Given the description of an element on the screen output the (x, y) to click on. 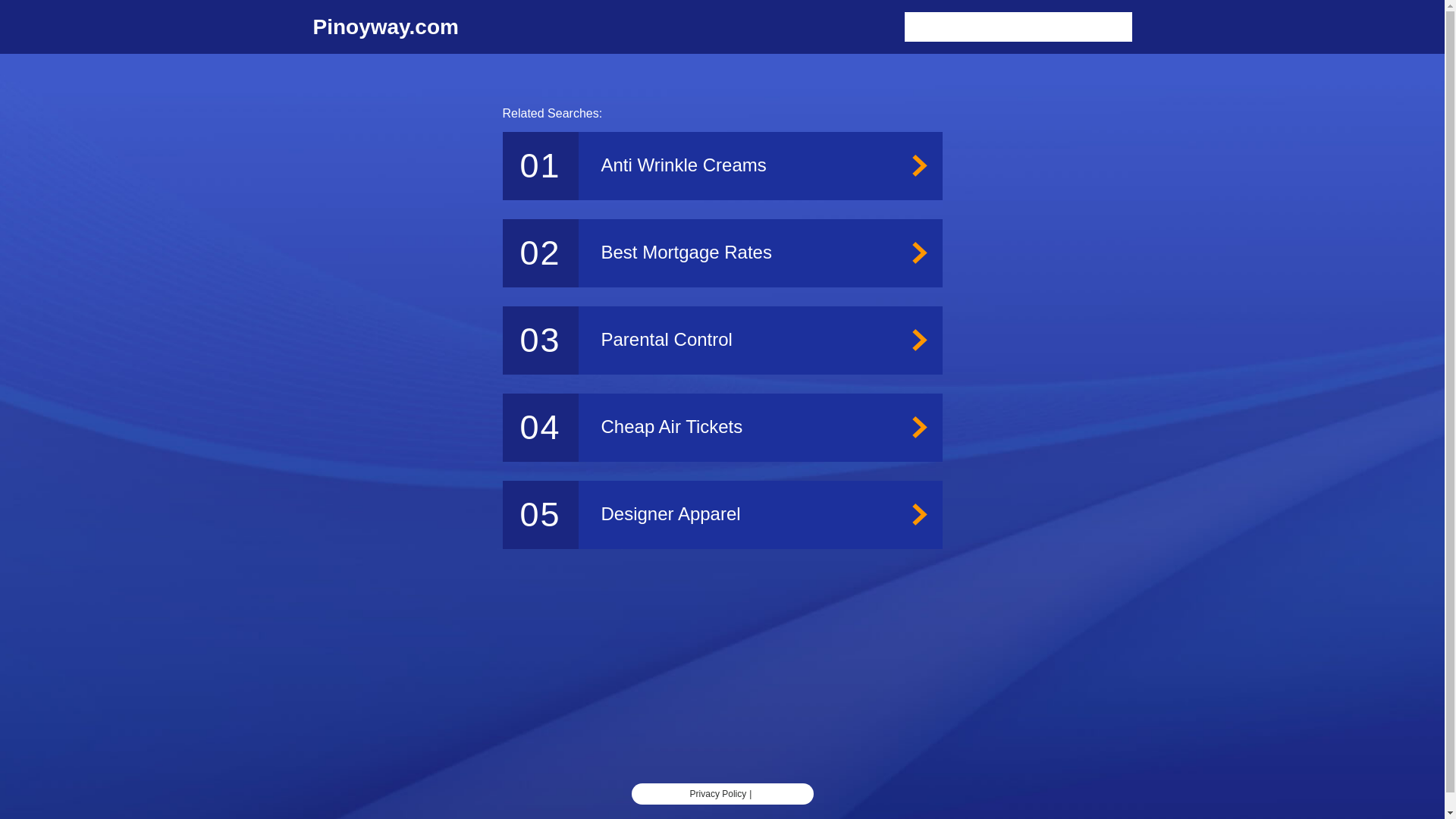
Parental Control (722, 340)
Pinoyway.com (385, 27)
Best Mortgage Rates (722, 253)
Parental Control (722, 340)
Best Mortgage Rates (722, 253)
Cheap Air Tickets (722, 427)
Designer Apparel (722, 514)
Privacy Policy (718, 793)
Anti Wrinkle Creams (722, 165)
Anti Wrinkle Creams (722, 165)
